Given the description of an element on the screen output the (x, y) to click on. 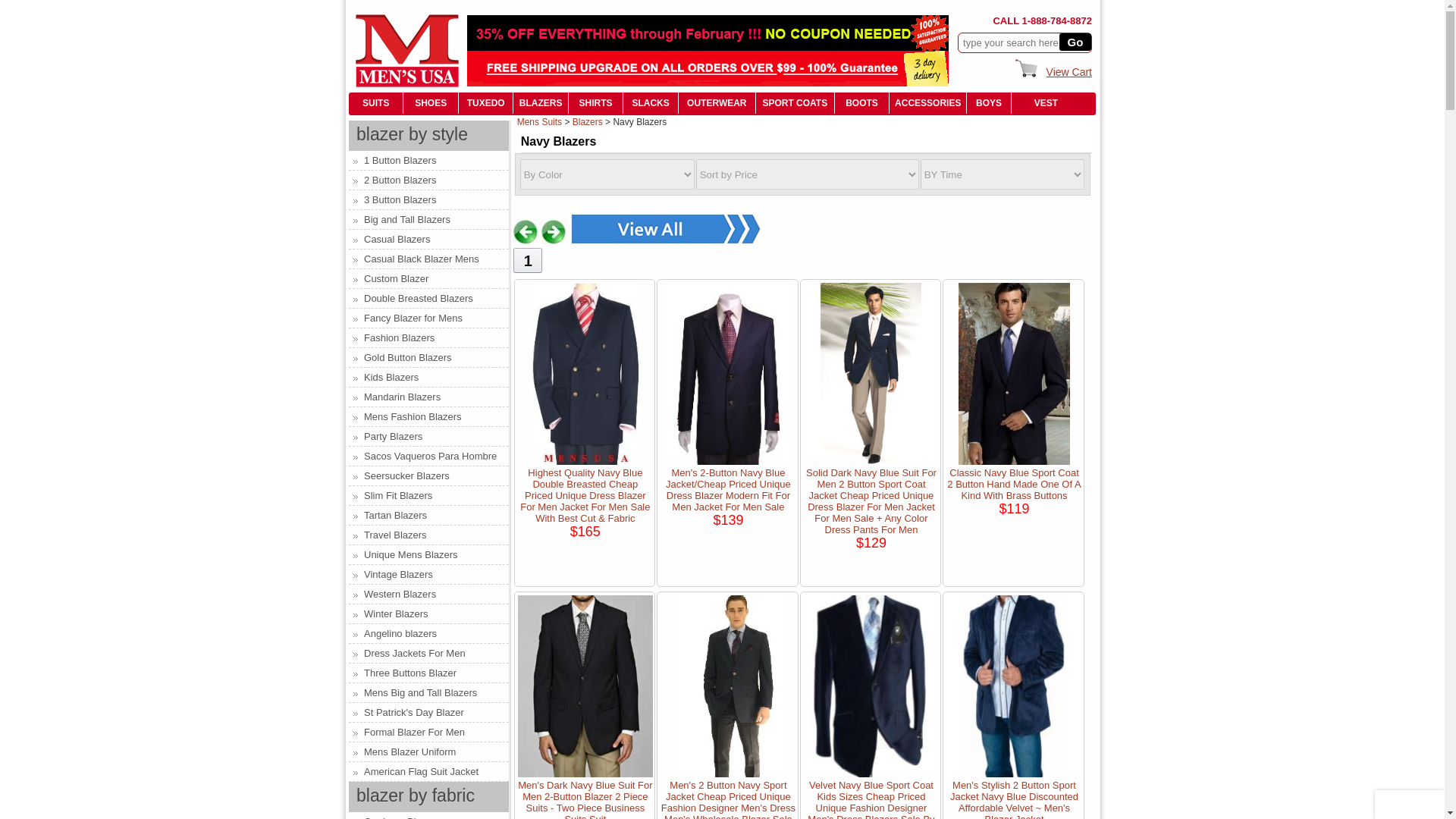
Sport Coats (794, 102)
type your search here (1013, 42)
Go (1074, 41)
Previous (525, 232)
boots (861, 102)
View Cart (1069, 71)
View cart (1069, 71)
mensUSA cart icon (1026, 66)
Go (1074, 41)
Go (1074, 41)
